Given the description of an element on the screen output the (x, y) to click on. 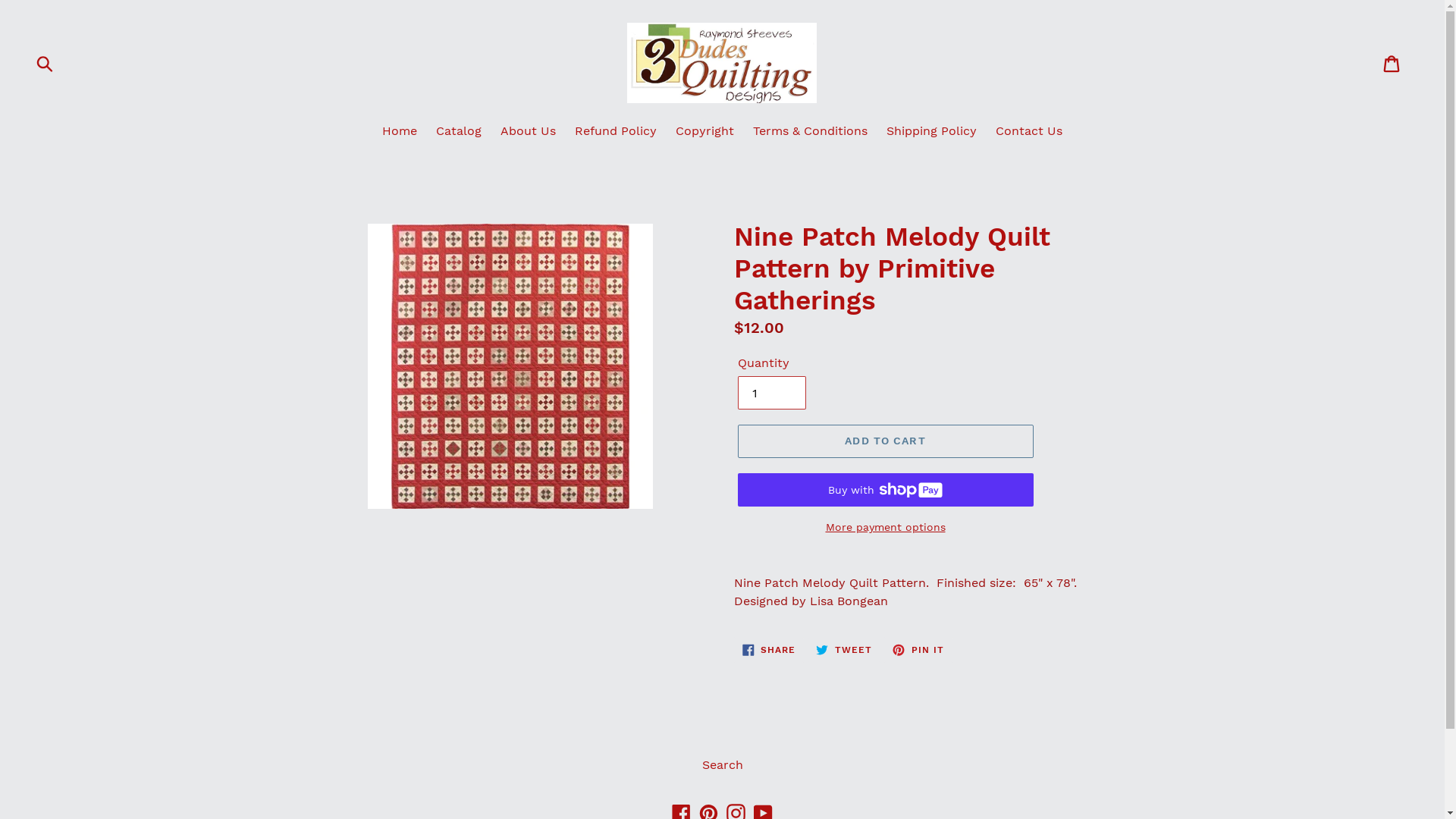
Refund Policy Element type: text (615, 132)
TWEET
TWEET ON TWITTER Element type: text (843, 649)
About Us Element type: text (527, 132)
Search Element type: text (722, 764)
ADD TO CART Element type: text (884, 441)
Catalog Element type: text (458, 132)
Submit Element type: text (45, 62)
Cart Element type: text (1392, 63)
Copyright Element type: text (704, 132)
Contact Us Element type: text (1029, 132)
Home Element type: text (399, 132)
Terms & Conditions Element type: text (810, 132)
Shipping Policy Element type: text (931, 132)
SHARE
SHARE ON FACEBOOK Element type: text (769, 649)
PIN IT
PIN ON PINTEREST Element type: text (918, 649)
More payment options Element type: text (884, 527)
